Given the description of an element on the screen output the (x, y) to click on. 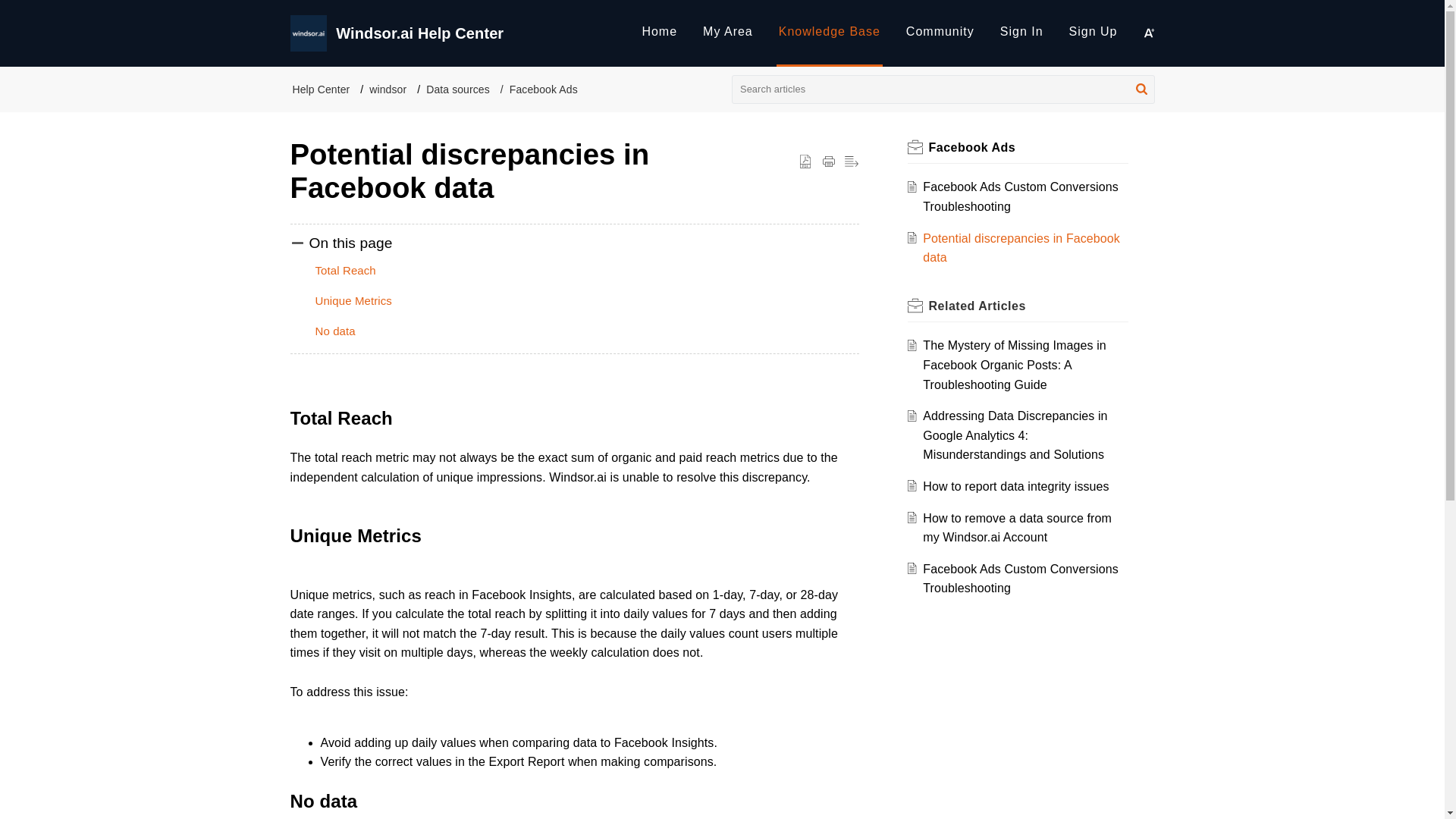
Facebook Ads Custom Conversions Troubleshooting (1020, 196)
Sign In (1021, 33)
No data  (337, 331)
Print (828, 161)
Data sources (457, 89)
Potential discrepancies in Facebook data (1021, 247)
Knowledge Base (829, 33)
Facebook Ads (971, 146)
Sign Up (1093, 31)
Reader view (851, 161)
Windsor.ai Help Center (482, 33)
Community (939, 31)
Home (659, 31)
